Given the description of an element on the screen output the (x, y) to click on. 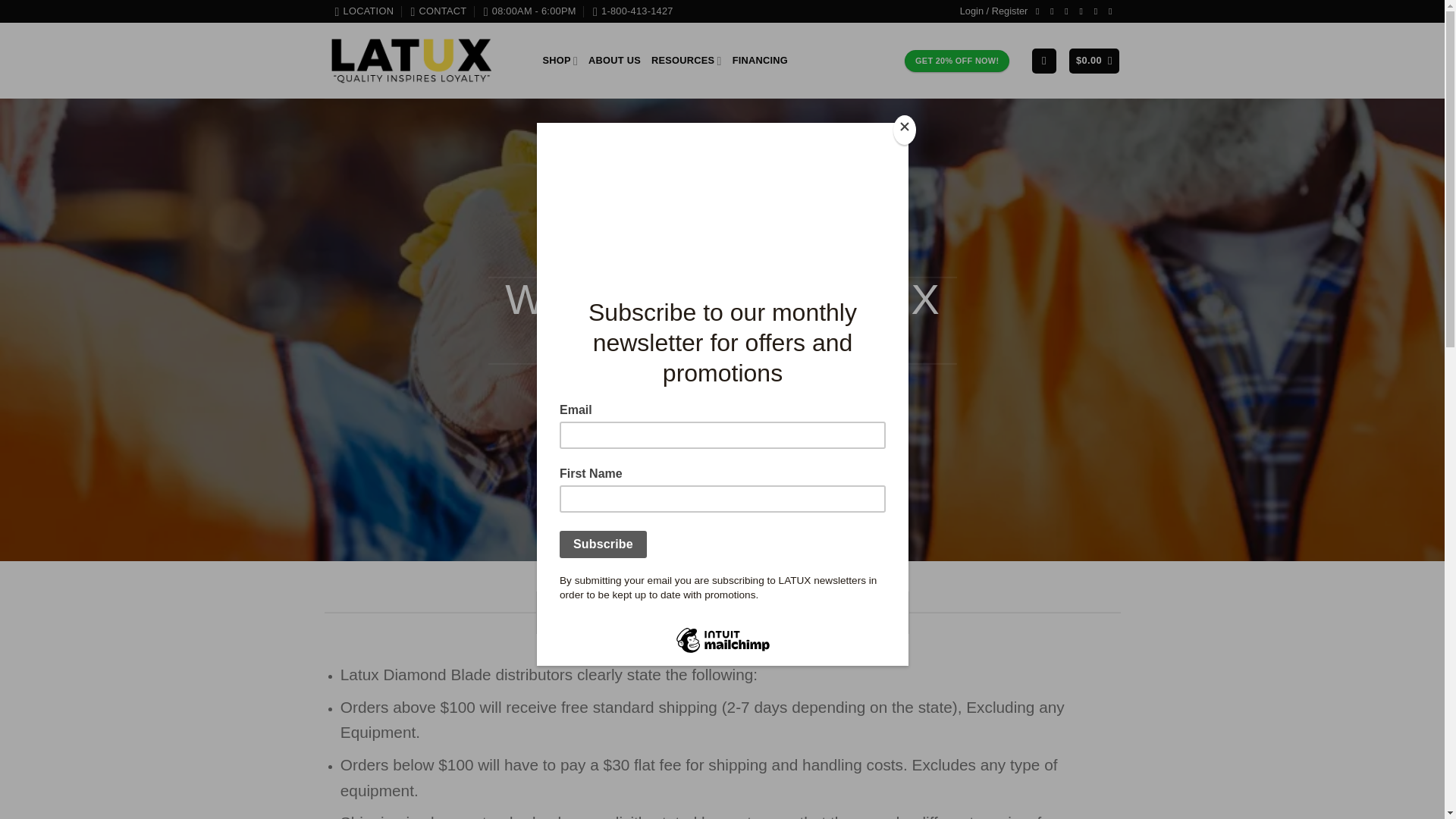
SHOP (560, 60)
1-800-413-1427 (632, 11)
Login (993, 11)
1-800-413-1427 (632, 11)
08:00AM - 6:00PM (529, 11)
ABOUT US (614, 60)
LATUX - Diamond Tools and Equipment (411, 60)
CONTACT (438, 11)
RESOURCES (686, 60)
FINANCING (759, 60)
2201 N Andrews Ave., Suite 108, Pompano Beach, FL 33069 (364, 11)
LOCATION (364, 11)
Cart (1093, 60)
